Given the description of an element on the screen output the (x, y) to click on. 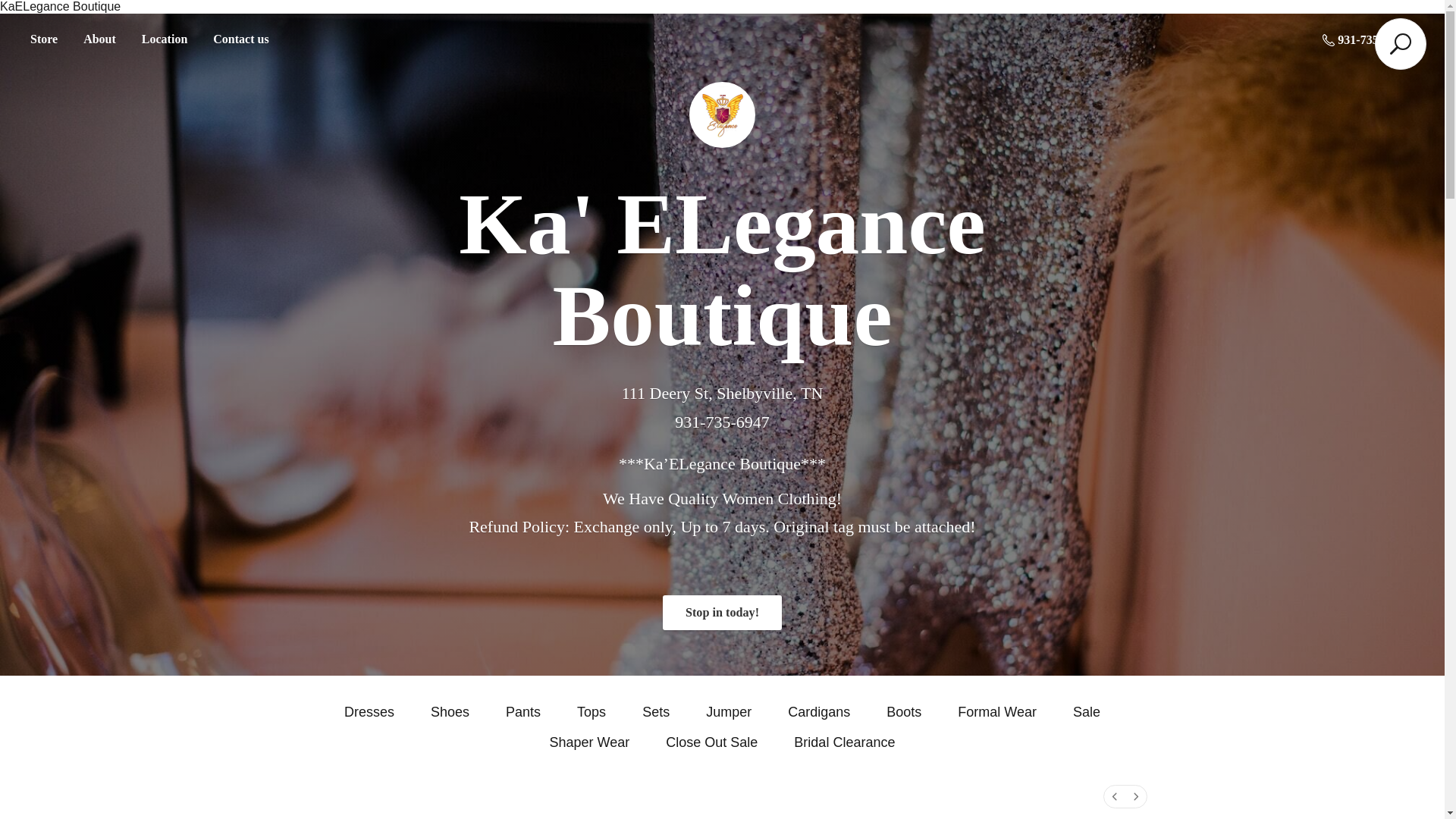
Store (43, 39)
Pants (522, 711)
Contact us (240, 39)
Stop in today! (721, 612)
Jumper (728, 711)
Location (164, 39)
Cardigans (818, 711)
About (99, 39)
Tops (590, 711)
Shoes (449, 711)
931-735-6947 (1363, 39)
Dresses (368, 711)
Boots (903, 711)
Sets (655, 711)
